Given the description of an element on the screen output the (x, y) to click on. 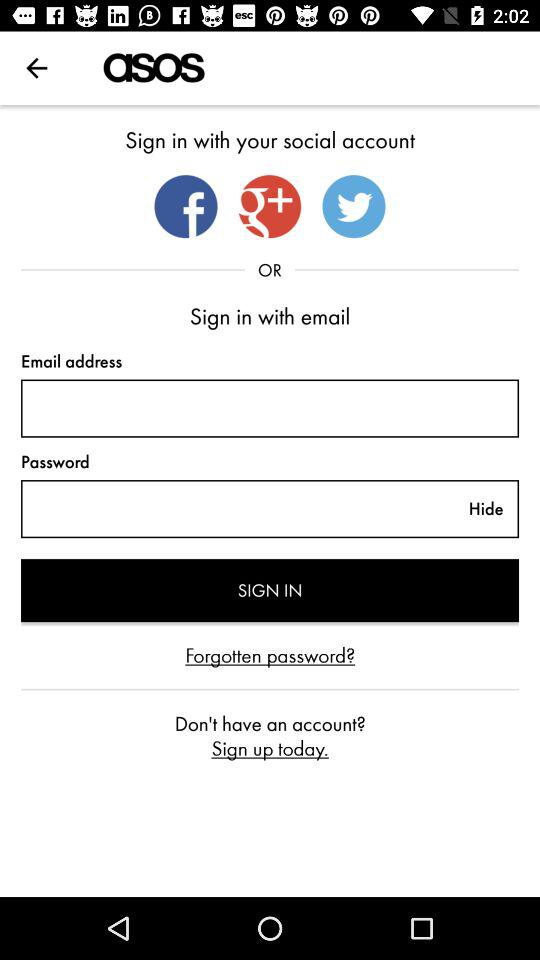
password (237, 509)
